Given the description of an element on the screen output the (x, y) to click on. 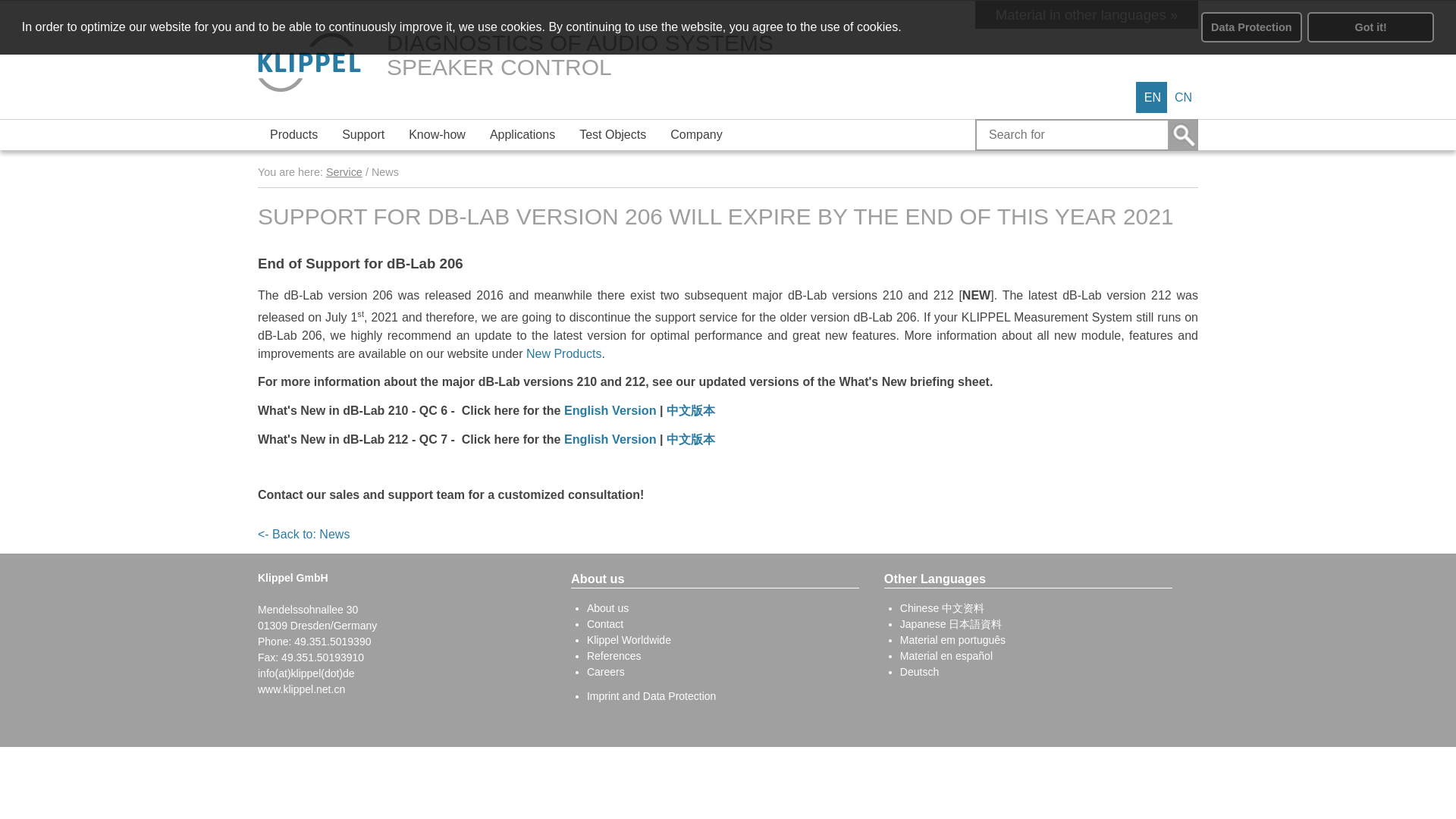
CN (1183, 97)
Got it! (1370, 27)
Search (1181, 134)
Search (1181, 134)
EN (1152, 97)
Data Protection (1251, 27)
Search (1181, 134)
Home (309, 63)
